Given the description of an element on the screen output the (x, y) to click on. 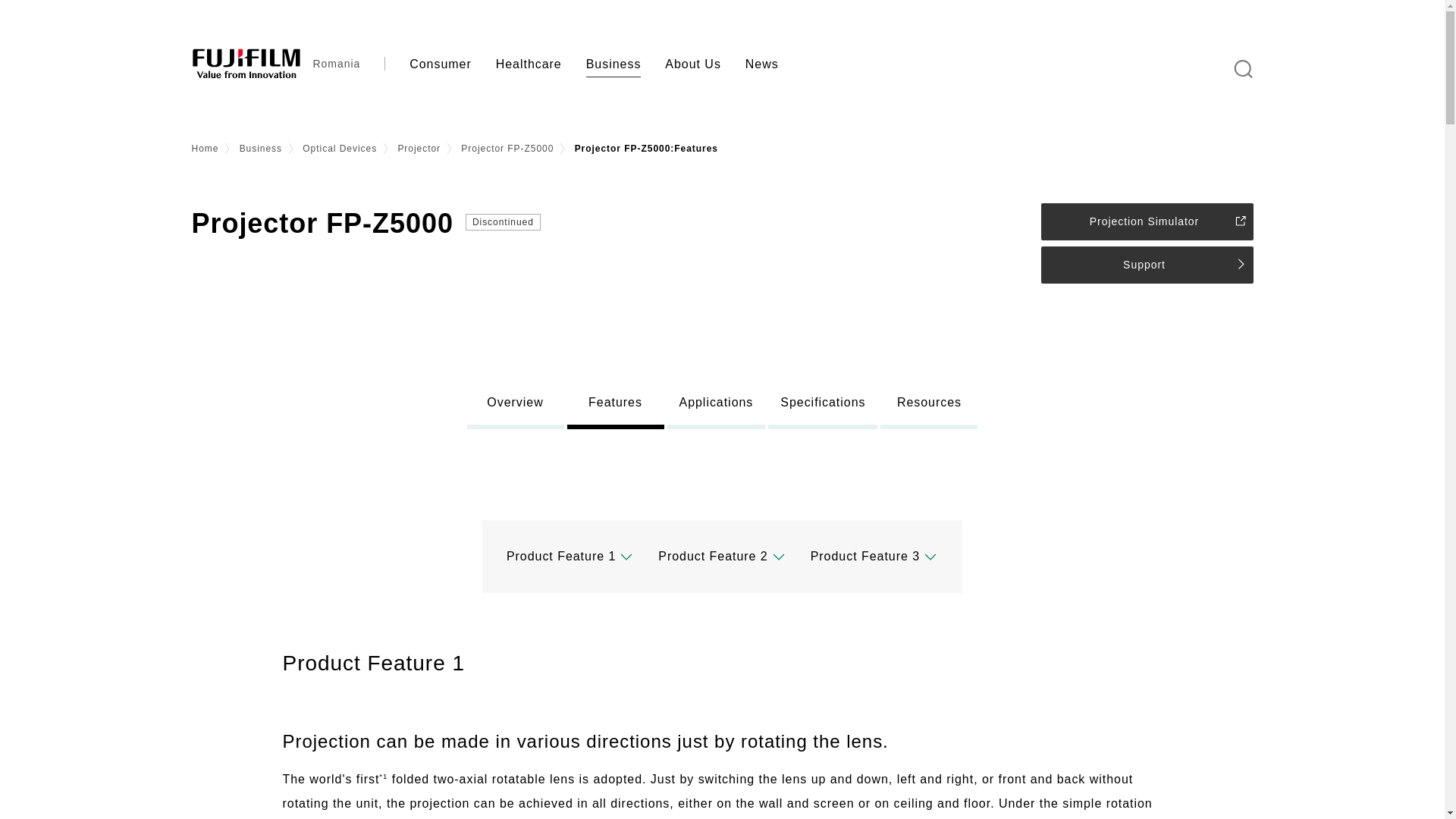
Healthcare (528, 63)
Consumer (440, 63)
Business (613, 63)
About Us (692, 63)
